Given the description of an element on the screen output the (x, y) to click on. 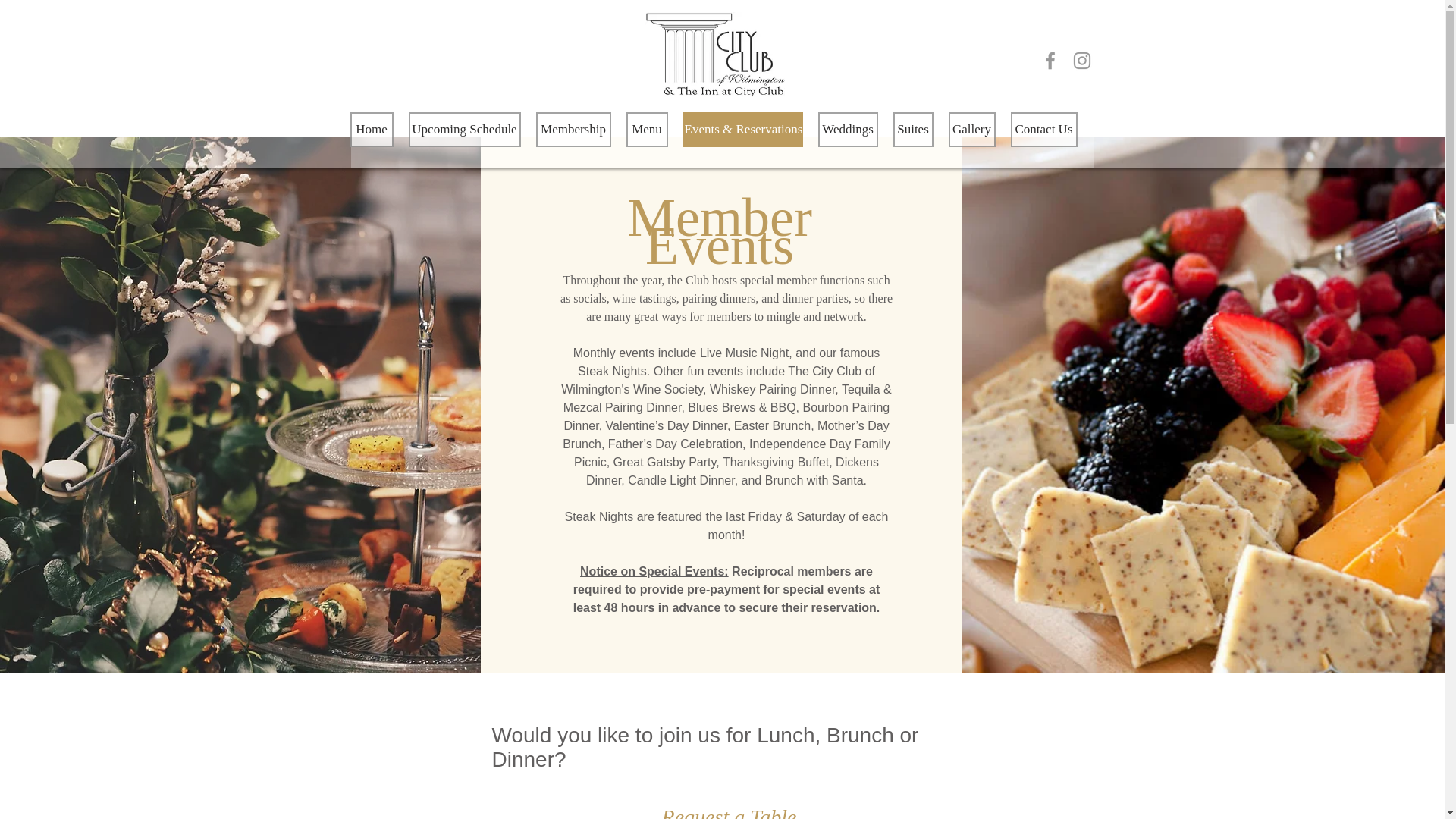
Weddings (846, 129)
Home (371, 129)
Suites (913, 129)
Upcoming Schedule (463, 129)
Gallery (970, 129)
Membership (572, 129)
Contact Us (1043, 129)
Menu (647, 129)
